Given the description of an element on the screen output the (x, y) to click on. 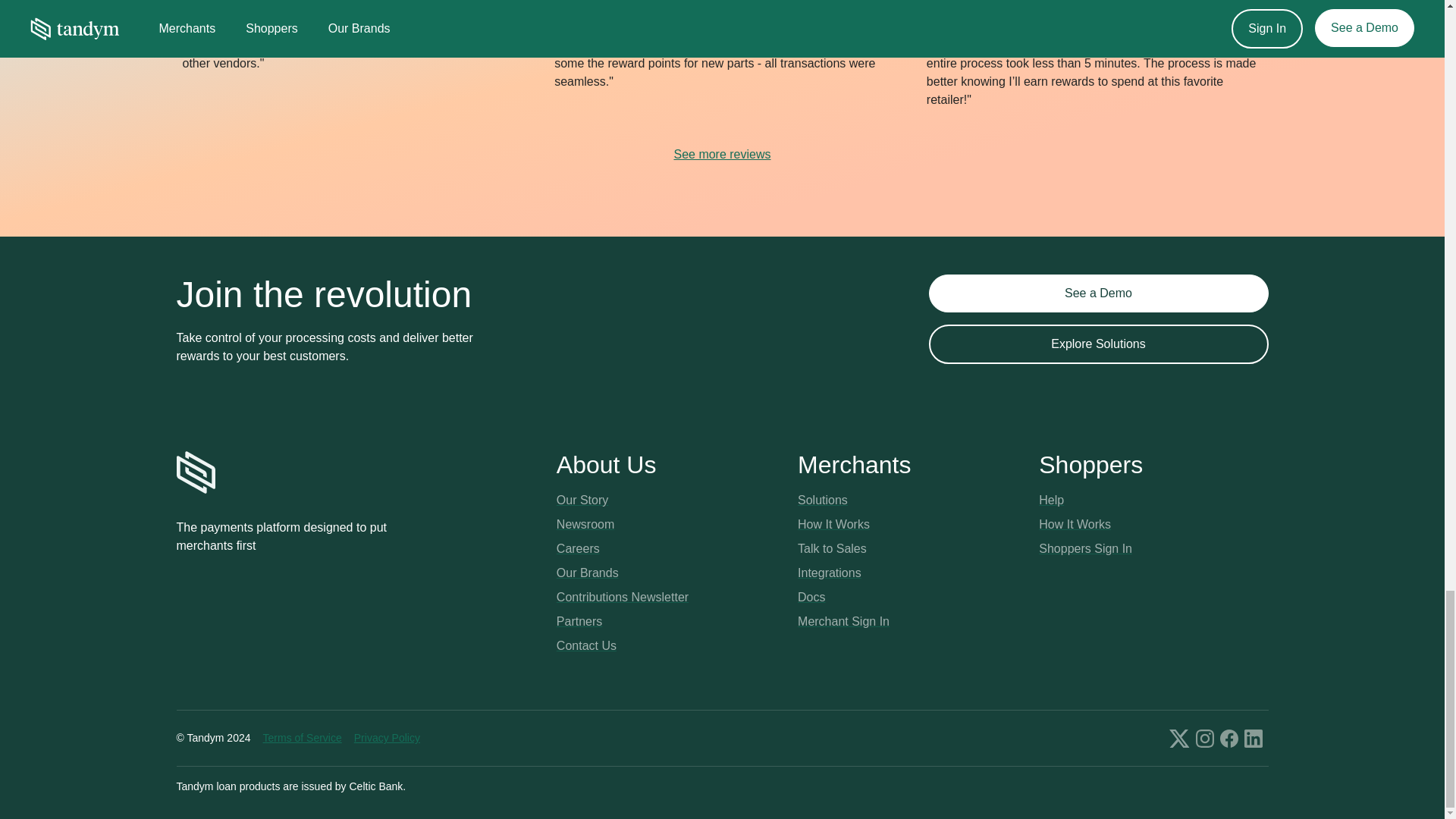
Explore Solutions (1098, 343)
See more reviews (721, 154)
See a Demo (1098, 293)
